Given the description of an element on the screen output the (x, y) to click on. 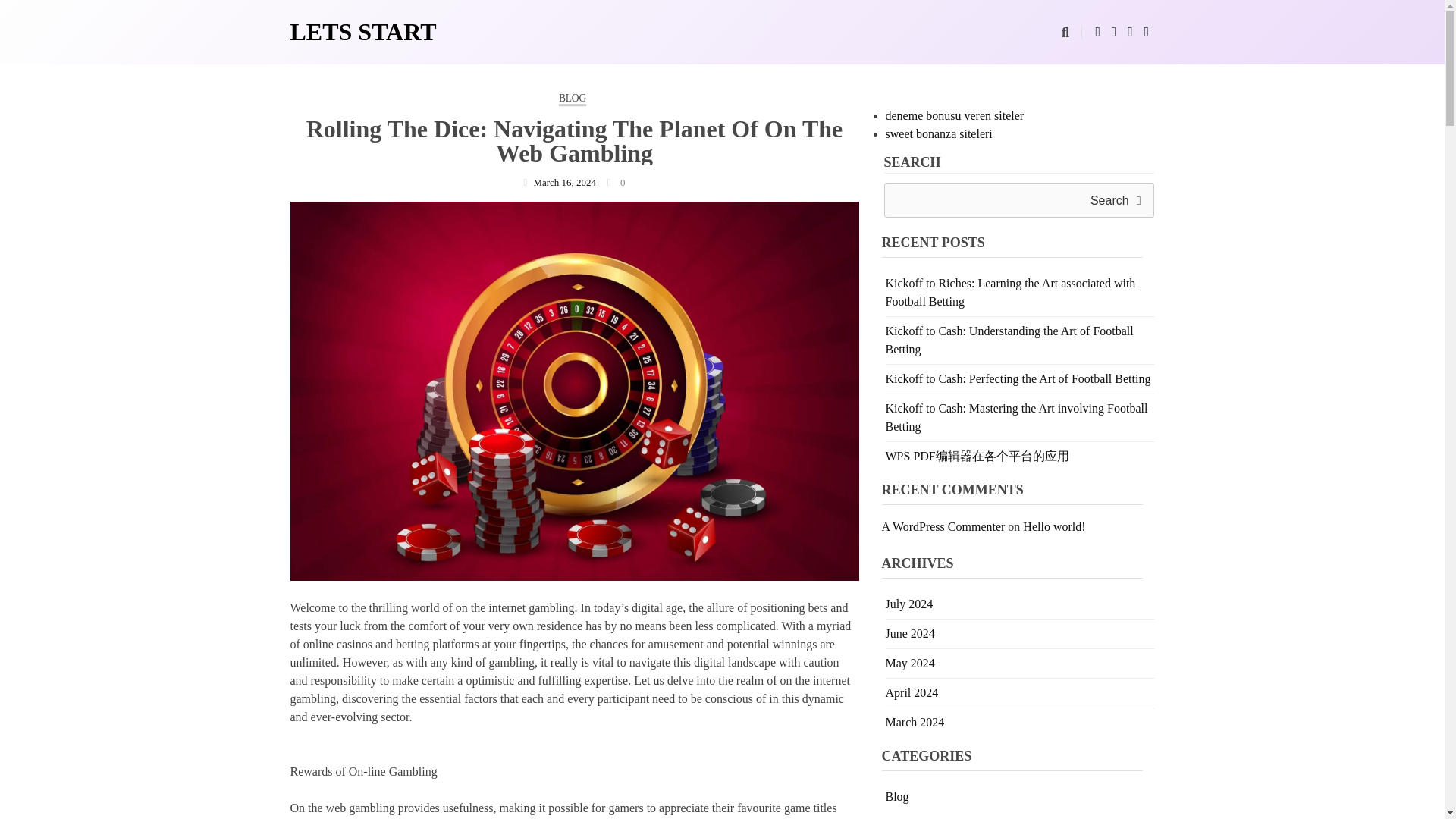
Kickoff to Cash: Perfecting the Art of Football Betting (1018, 378)
Kickoff to Cash: Understanding the Art of Football Betting (1009, 339)
LETS START (362, 31)
sweet bonanza siteleri (938, 133)
July 2024 (909, 603)
June 2024 (909, 633)
May 2024 (909, 662)
Hello world! (1053, 526)
A WordPress Commenter (942, 526)
March 2024 (914, 721)
Search (1115, 200)
deneme bonusu veren siteler (955, 115)
Blog (896, 796)
